Given the description of an element on the screen output the (x, y) to click on. 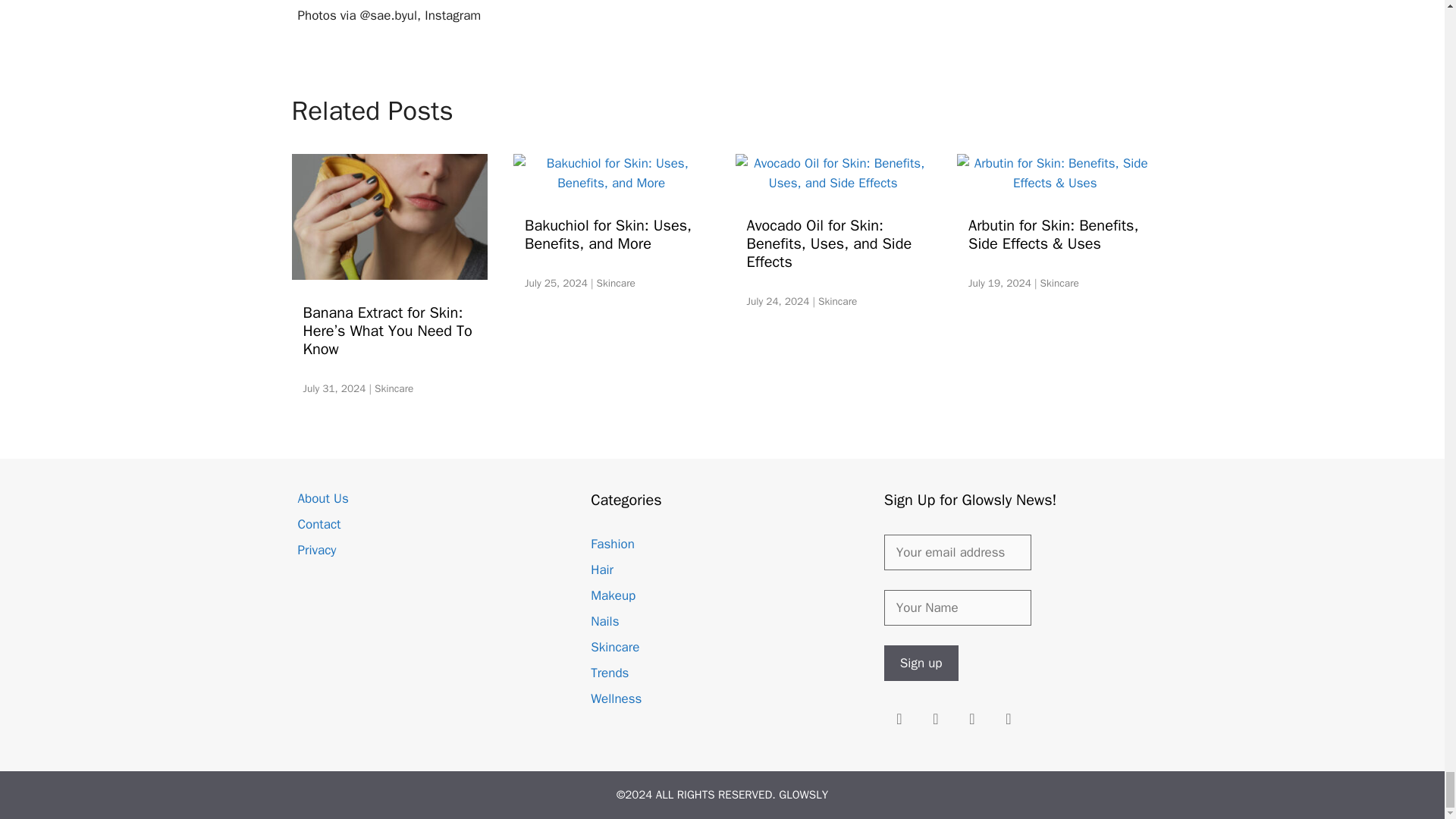
4:55 pm (334, 388)
Avocado Oil for Skin: Benefits, Uses, and Side Effects (833, 182)
Twitter (1007, 718)
6:33 pm (777, 300)
5:52 pm (999, 282)
Instagram (898, 718)
Facebook (935, 718)
Pinterest (971, 718)
8:21 pm (556, 282)
Bakuchiol for Skin: Uses, Benefits, and More (611, 182)
